Given the description of an element on the screen output the (x, y) to click on. 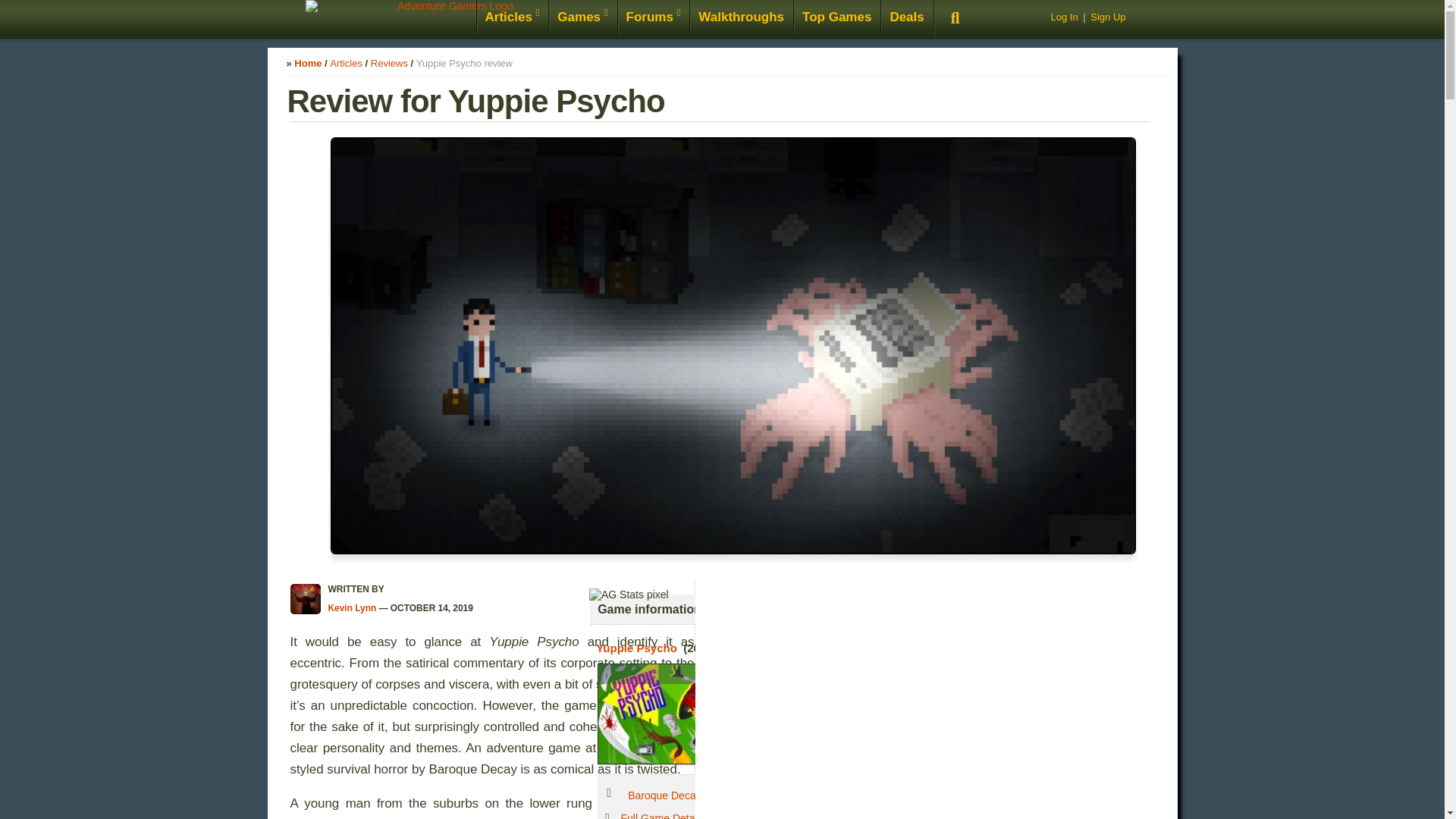
Log In (1063, 16)
Games (581, 18)
Sign Up (1107, 16)
Forums (653, 18)
Yuppie Psycho Box Cover (703, 713)
Articles (512, 18)
